Given the description of an element on the screen output the (x, y) to click on. 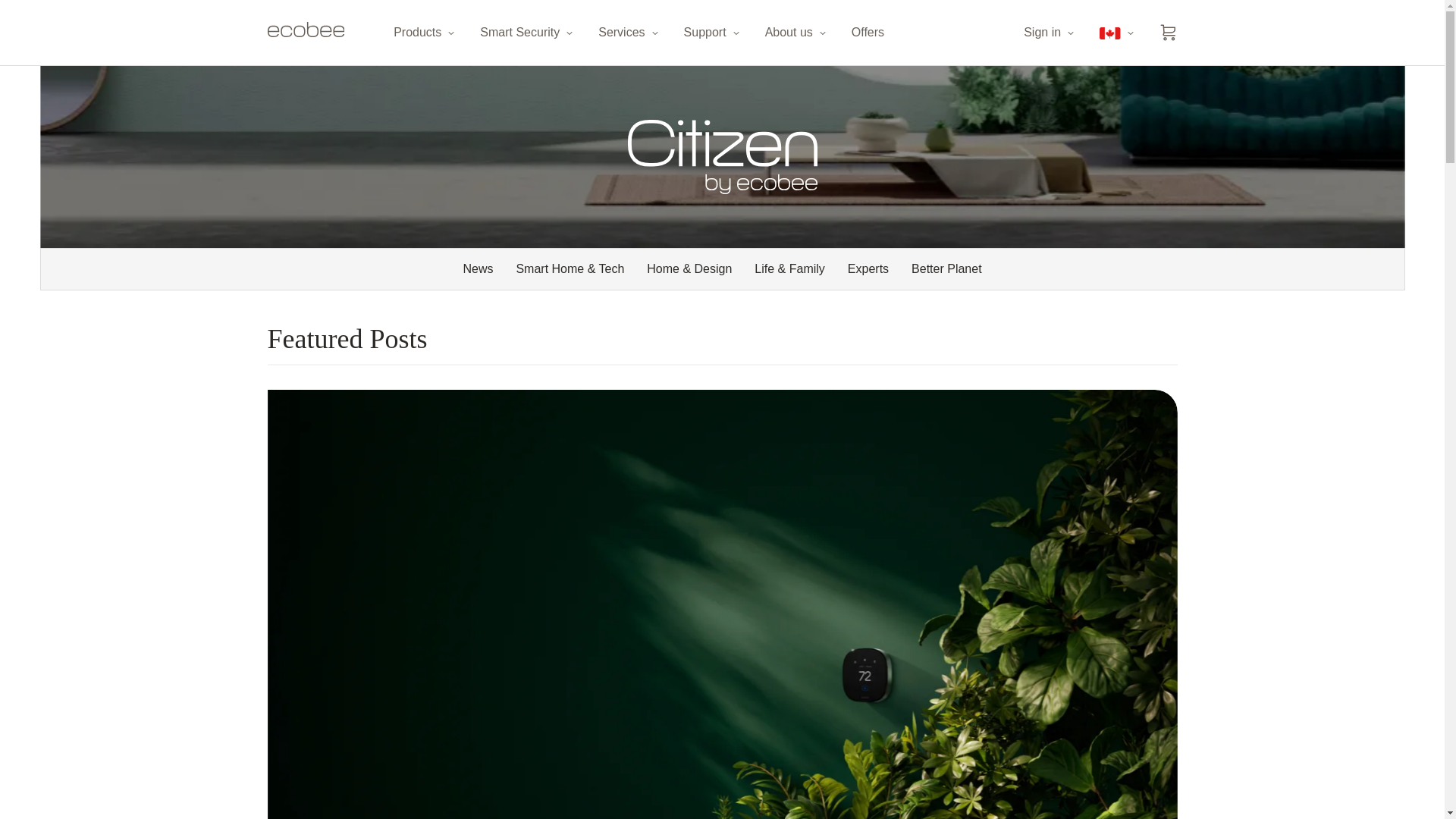
Services (628, 32)
ecobee logo (304, 29)
Support (713, 32)
Browse by category (722, 269)
Products (424, 32)
About us (797, 32)
go to home page (304, 32)
ecobee logo (304, 32)
Smart Security (527, 32)
